Given the description of an element on the screen output the (x, y) to click on. 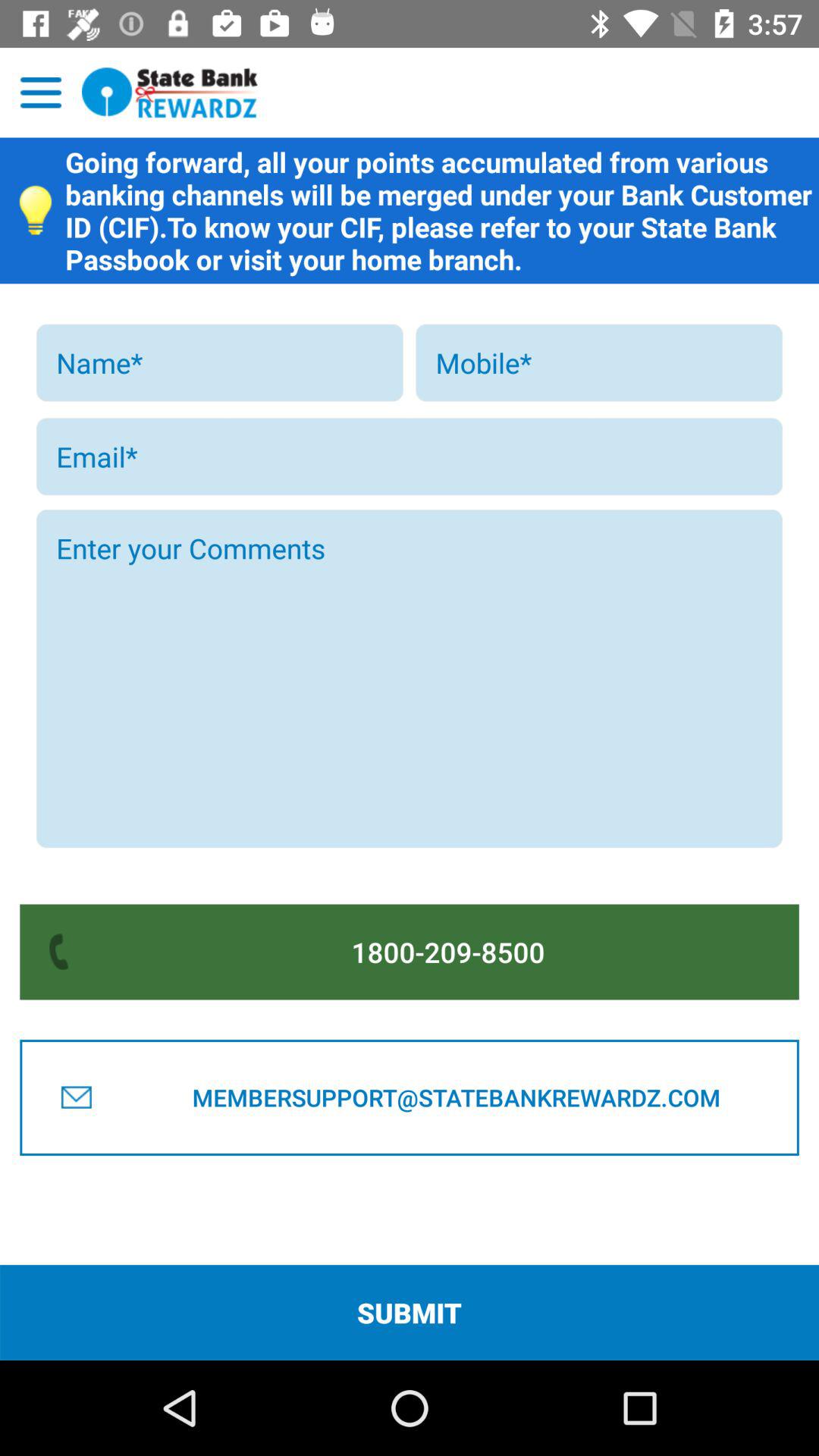
mobile adding button (598, 362)
